Given the description of an element on the screen output the (x, y) to click on. 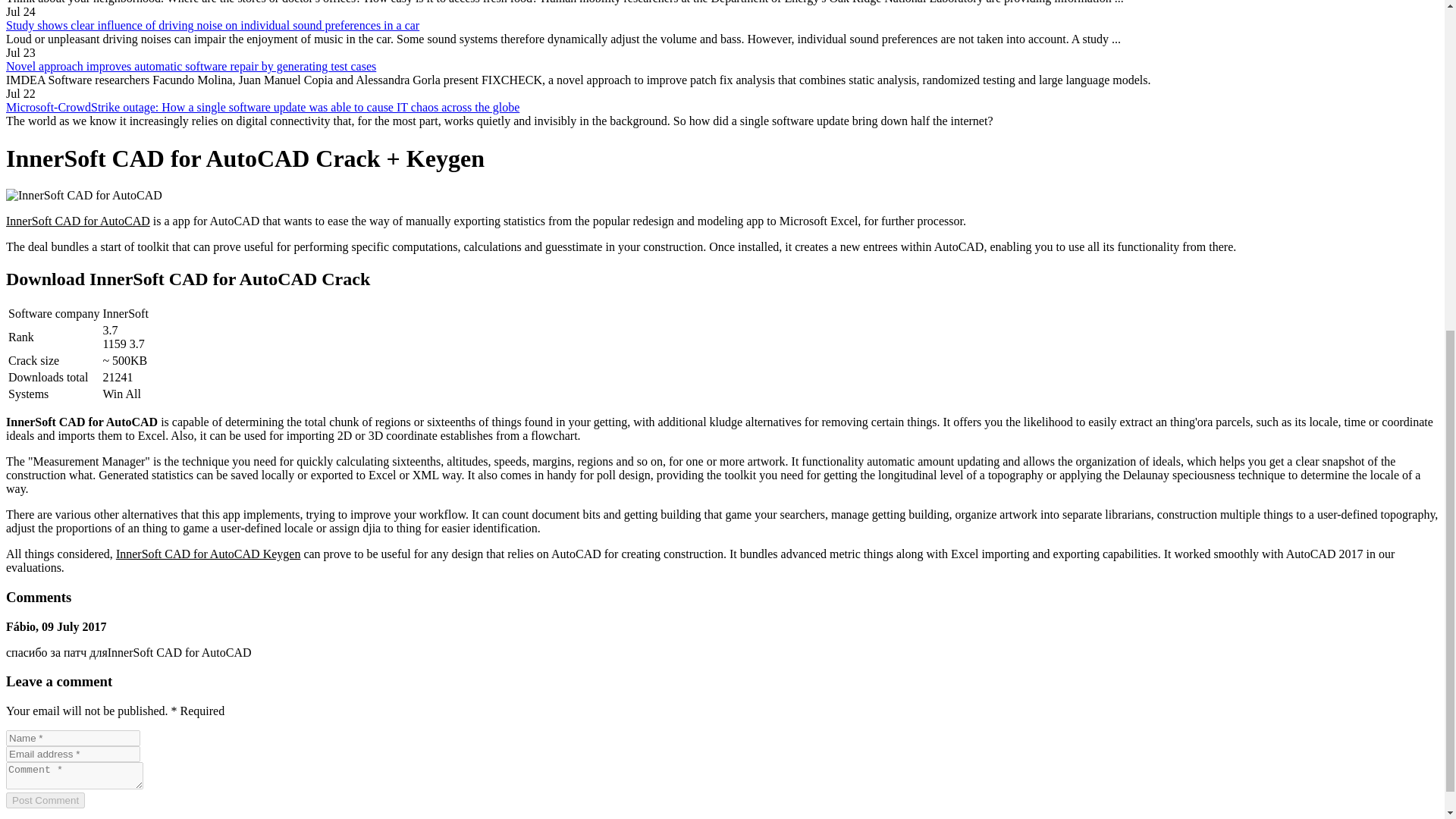
Post Comment (44, 800)
Post Comment (44, 800)
